Given the description of an element on the screen output the (x, y) to click on. 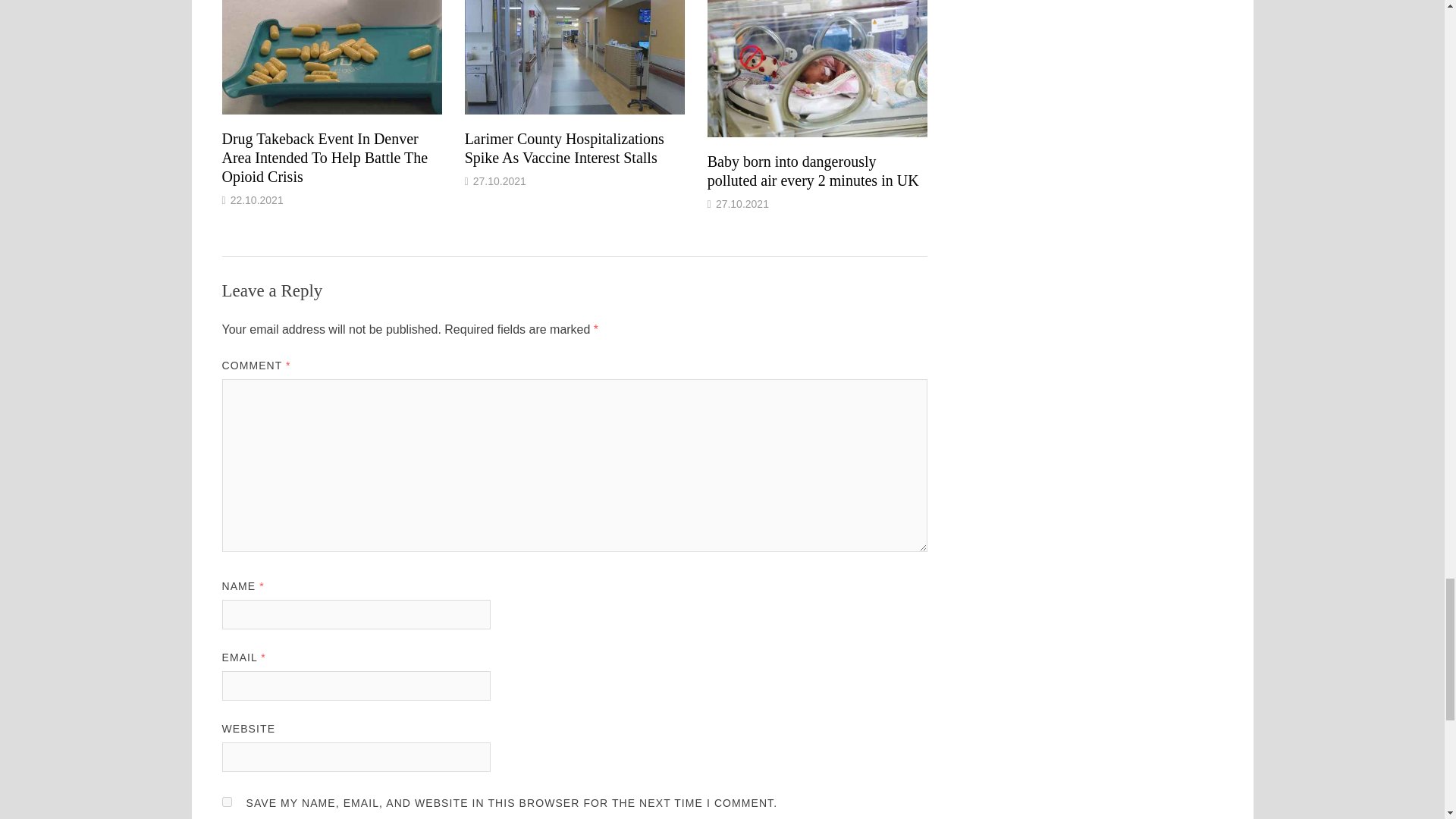
22.10.2021 (256, 200)
27.10.2021 (742, 203)
yes (226, 801)
27.10.2021 (499, 181)
